Given the description of an element on the screen output the (x, y) to click on. 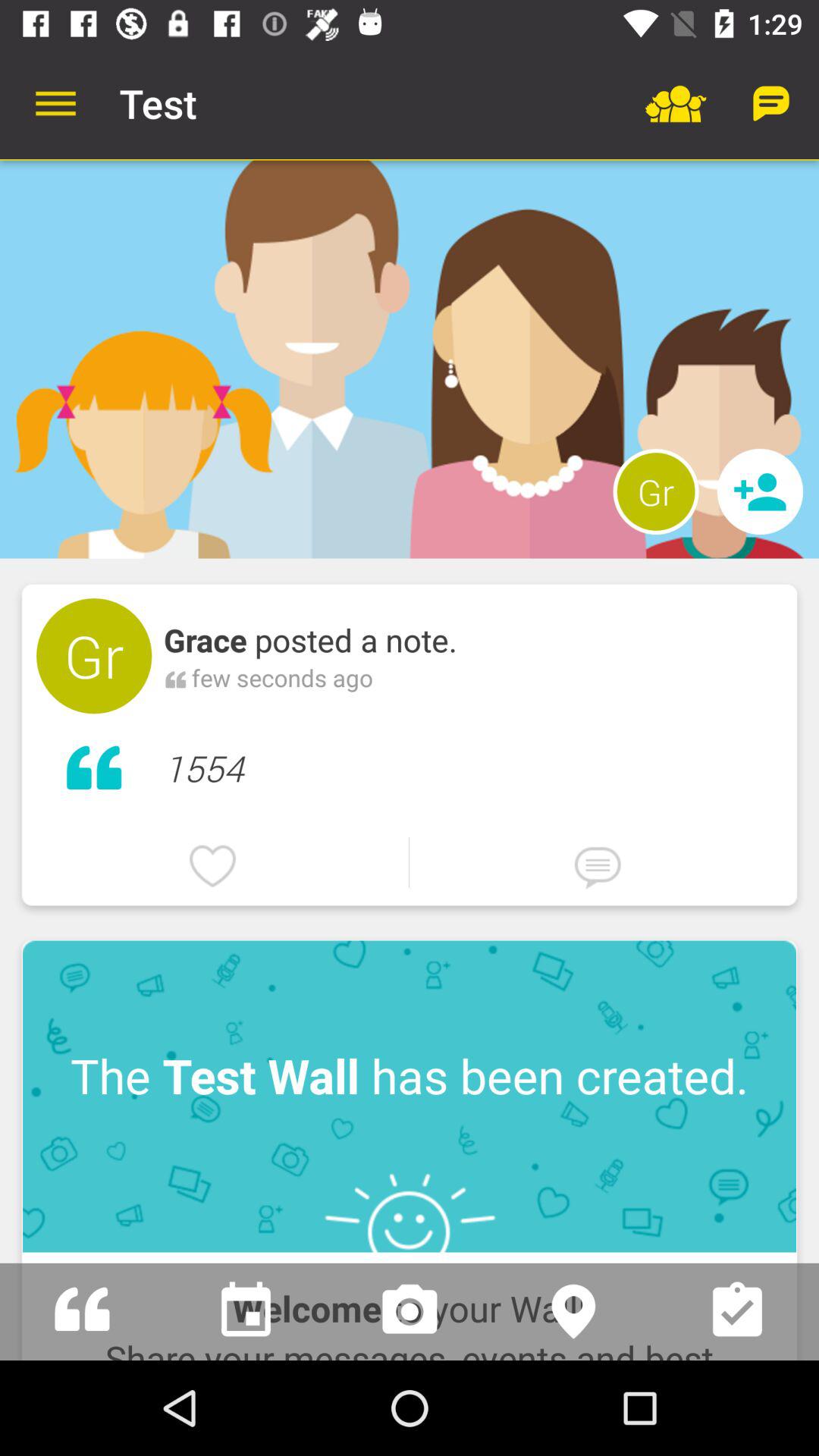
click icon next to few seconds ago (175, 677)
